Given the description of an element on the screen output the (x, y) to click on. 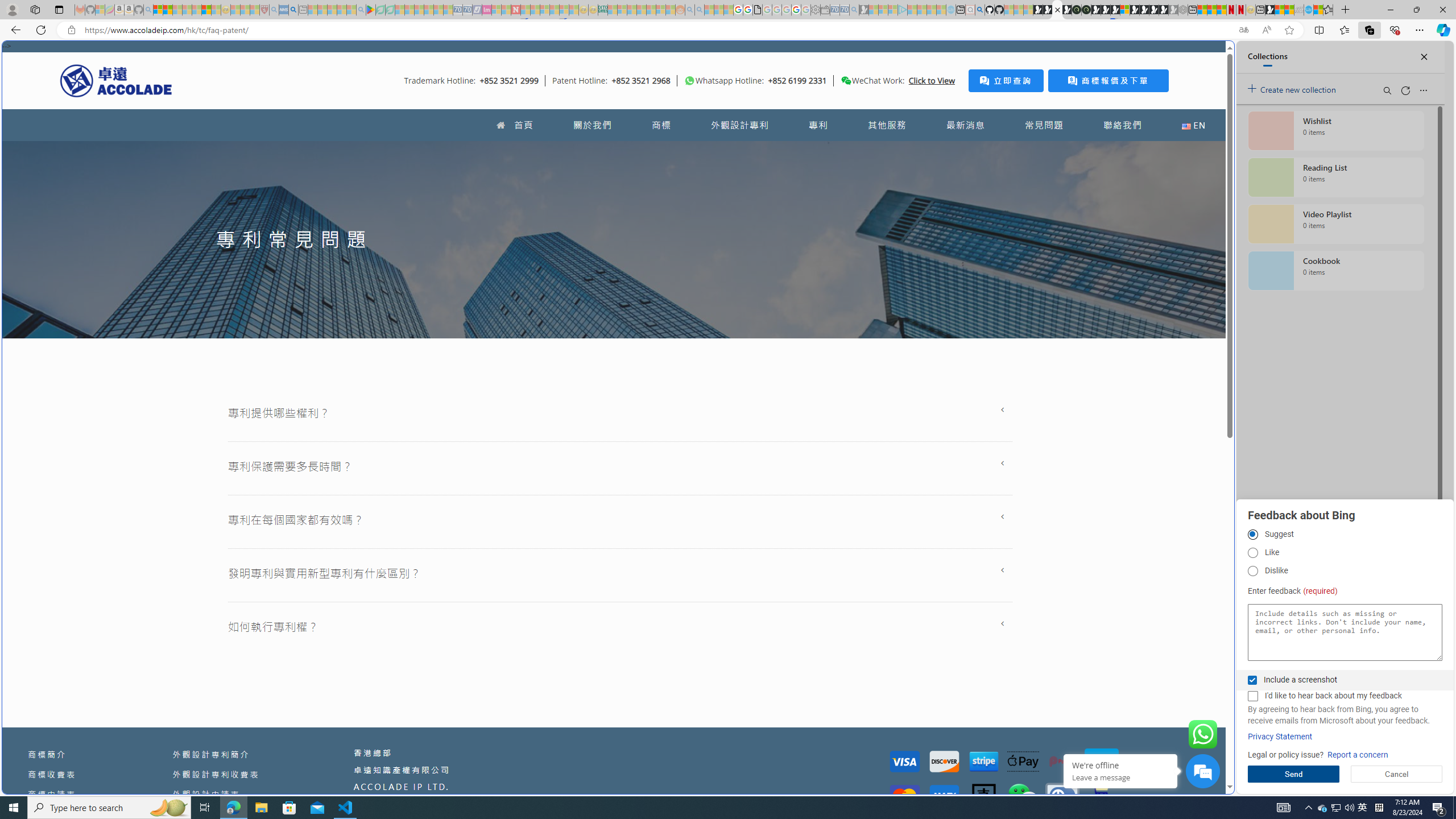
Play Cave FRVR in your browser | Games from Microsoft Start (922, 242)
google_privacy_policy_zh-CN.pdf (757, 9)
